Given the description of an element on the screen output the (x, y) to click on. 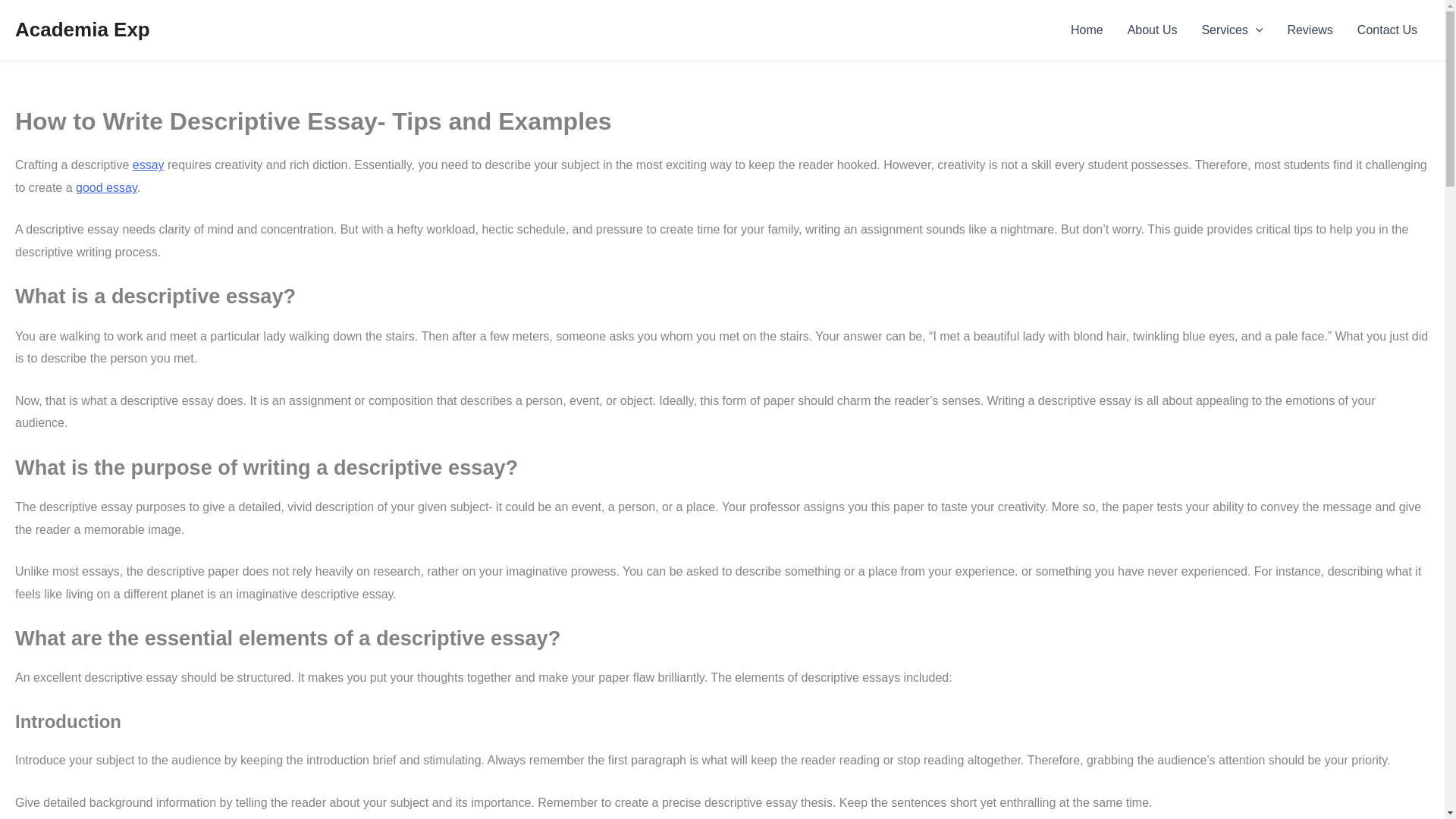
Services (1232, 30)
Academia Exp (81, 29)
About Us (1152, 30)
Reviews (1309, 30)
Contact Us (1387, 30)
Home (1086, 30)
